Given the description of an element on the screen output the (x, y) to click on. 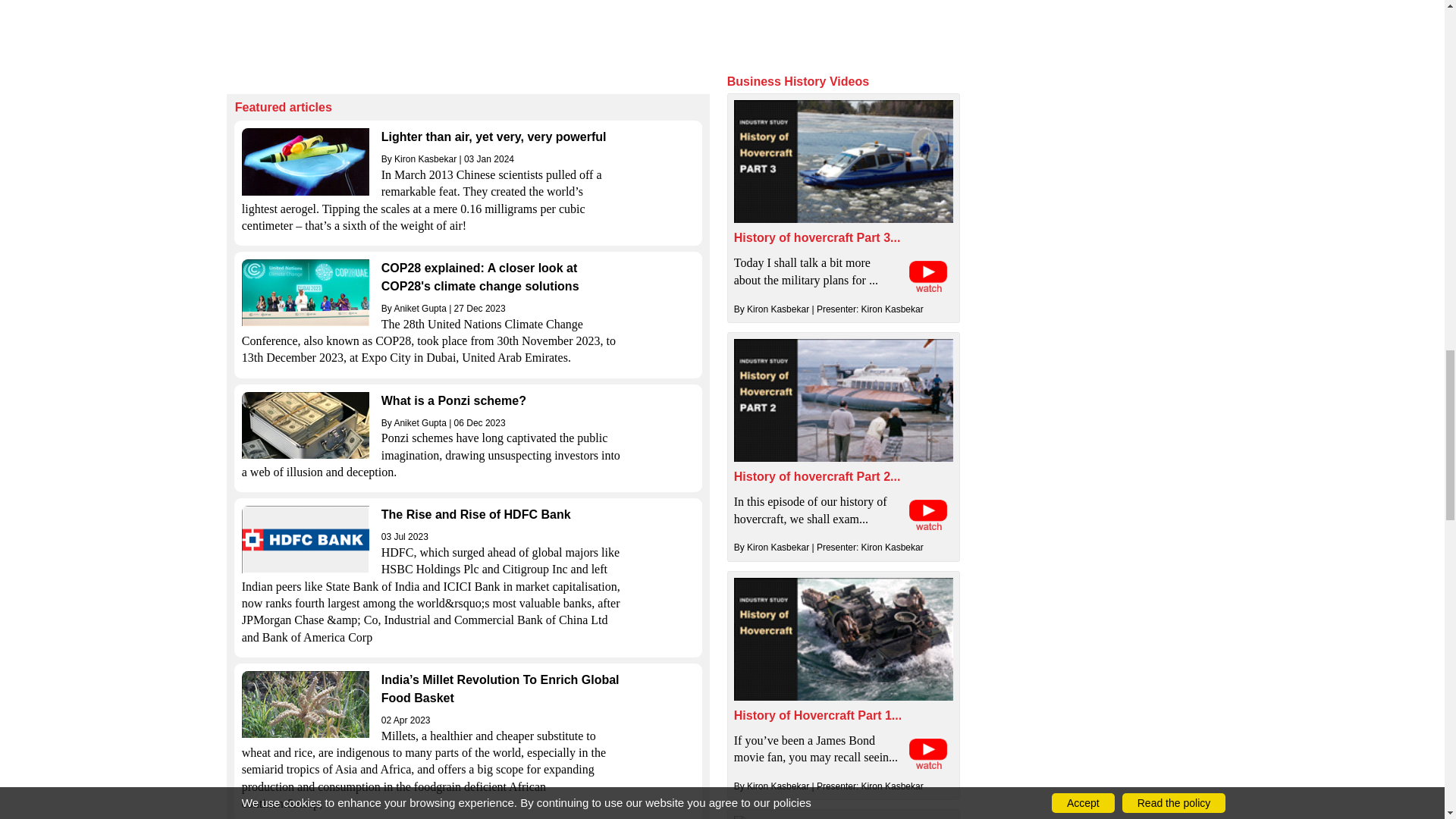
Click here to watch on YouTube (927, 514)
Click here to watch on YouTube (927, 276)
Click here to watch on YouTube (927, 753)
